Given the description of an element on the screen output the (x, y) to click on. 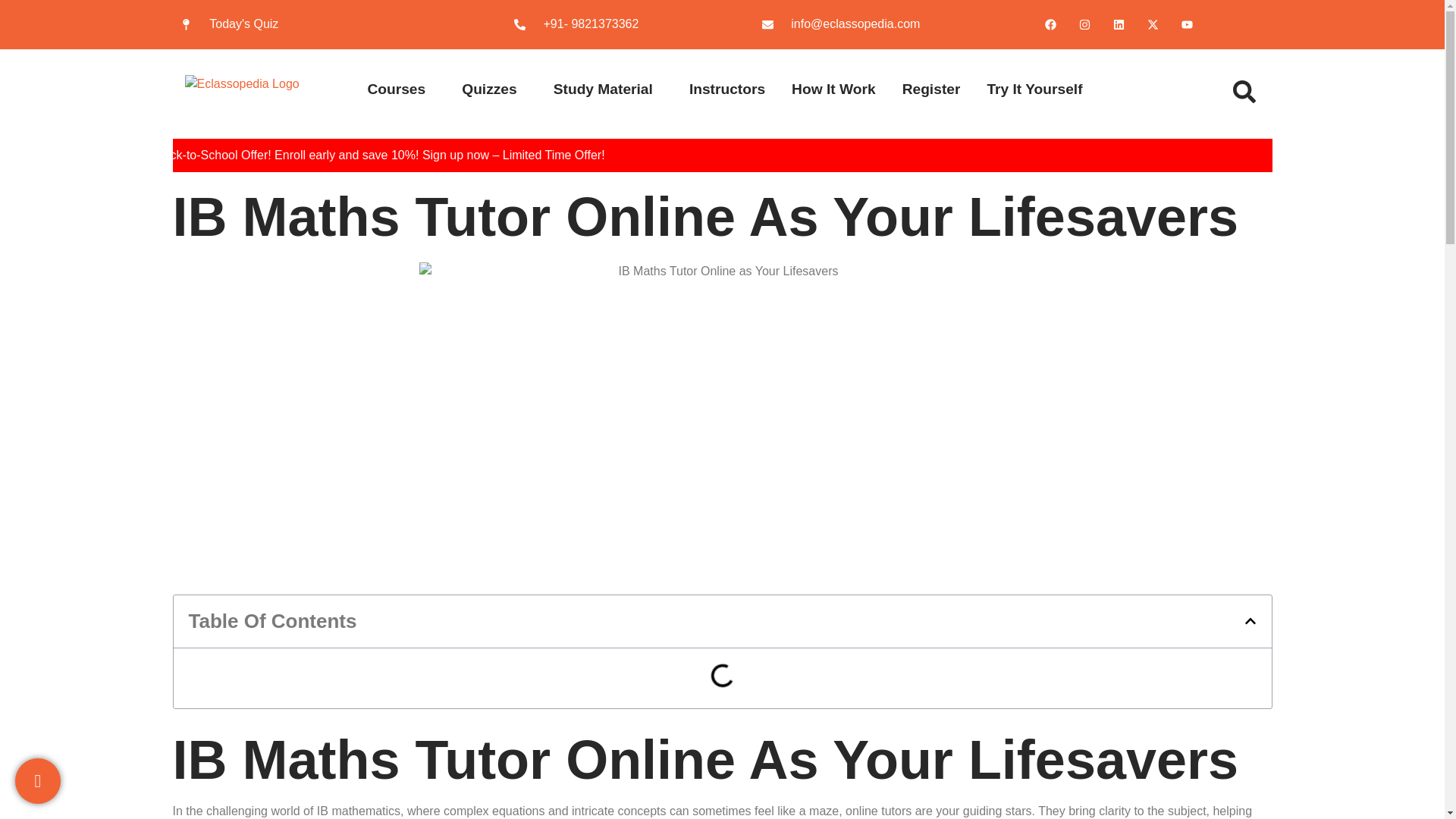
Courses (387, 90)
Quizzes (481, 90)
Today's Quiz (316, 24)
